Given the description of an element on the screen output the (x, y) to click on. 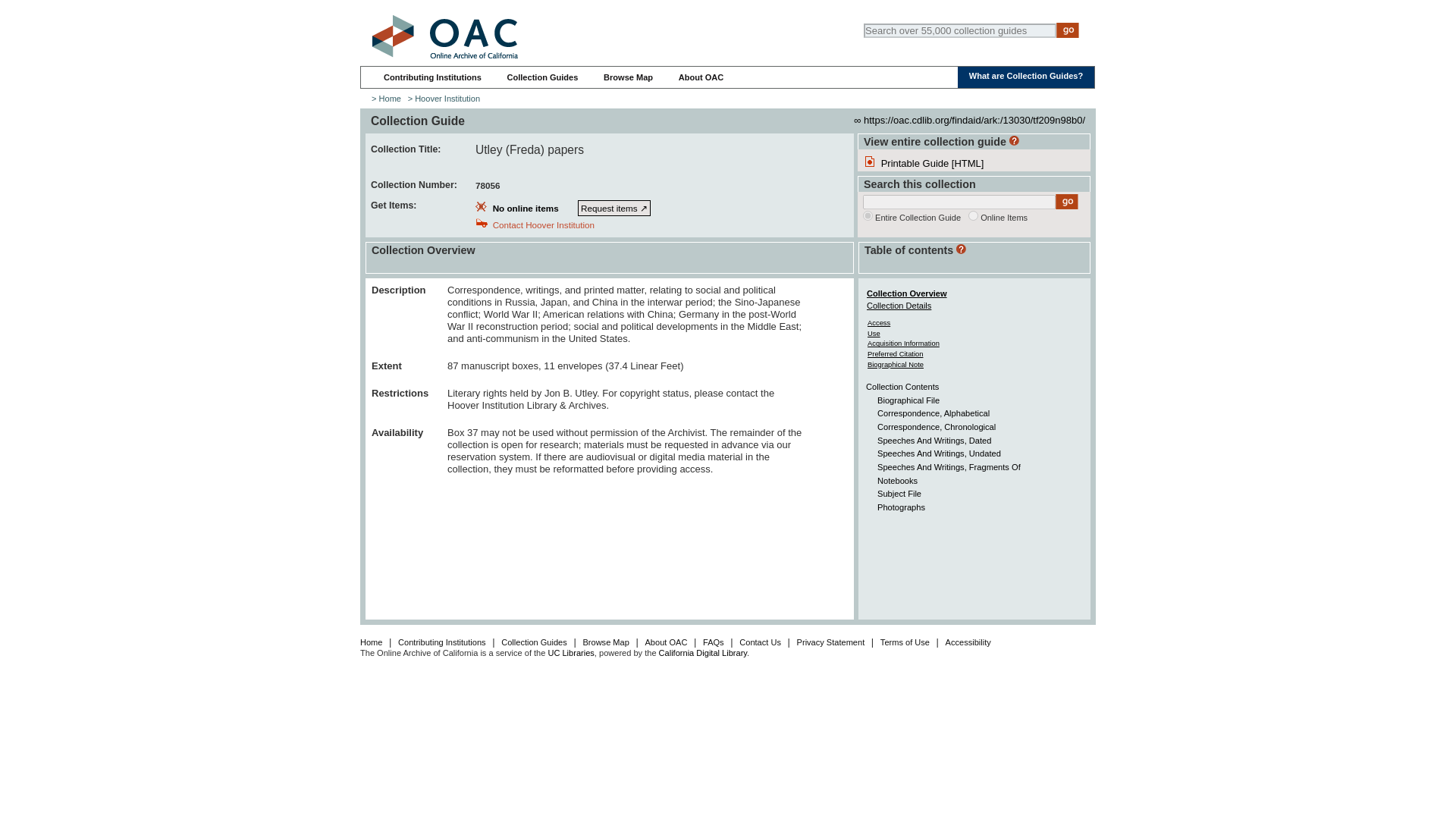
What are Collection Guides? (1026, 75)
Use (873, 333)
Correspondence, Chronological (936, 426)
Subject File (899, 492)
Go (1066, 201)
Speeches And Writings, Undated (939, 452)
Biographical Note (895, 364)
Acquisition Information (903, 343)
About OAC (700, 76)
Collection Contents (902, 386)
Speeches And Writings, Dated (934, 440)
Collection Guides (542, 76)
What's This? (961, 248)
Contact Hoover Institution (543, 225)
Search (1066, 201)
